Given the description of an element on the screen output the (x, y) to click on. 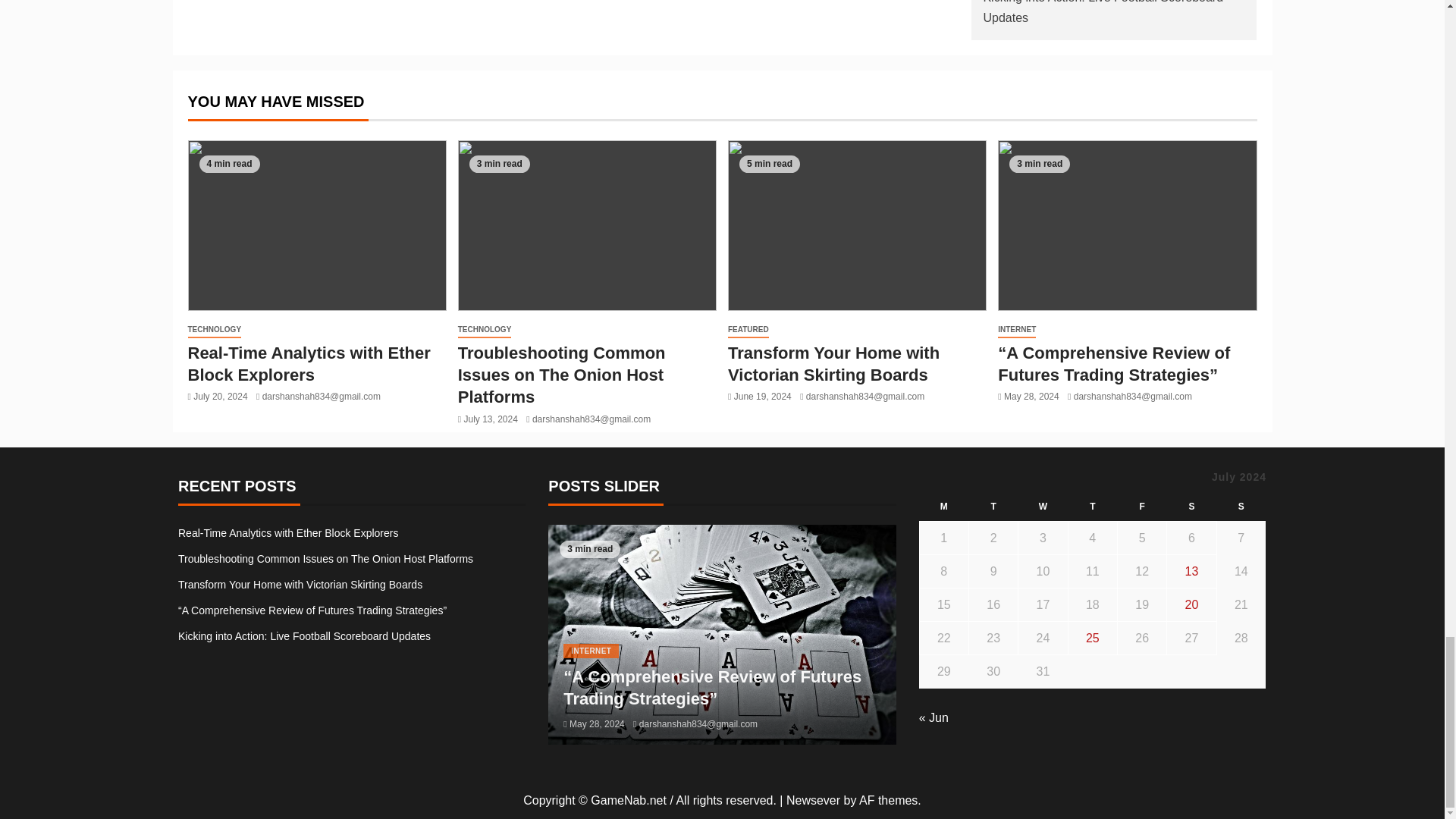
Wednesday (1042, 506)
Saturday (1191, 506)
Thursday (1091, 506)
Friday (1141, 506)
Monday (943, 506)
Tuesday (992, 506)
Sunday (1240, 506)
